Given the description of an element on the screen output the (x, y) to click on. 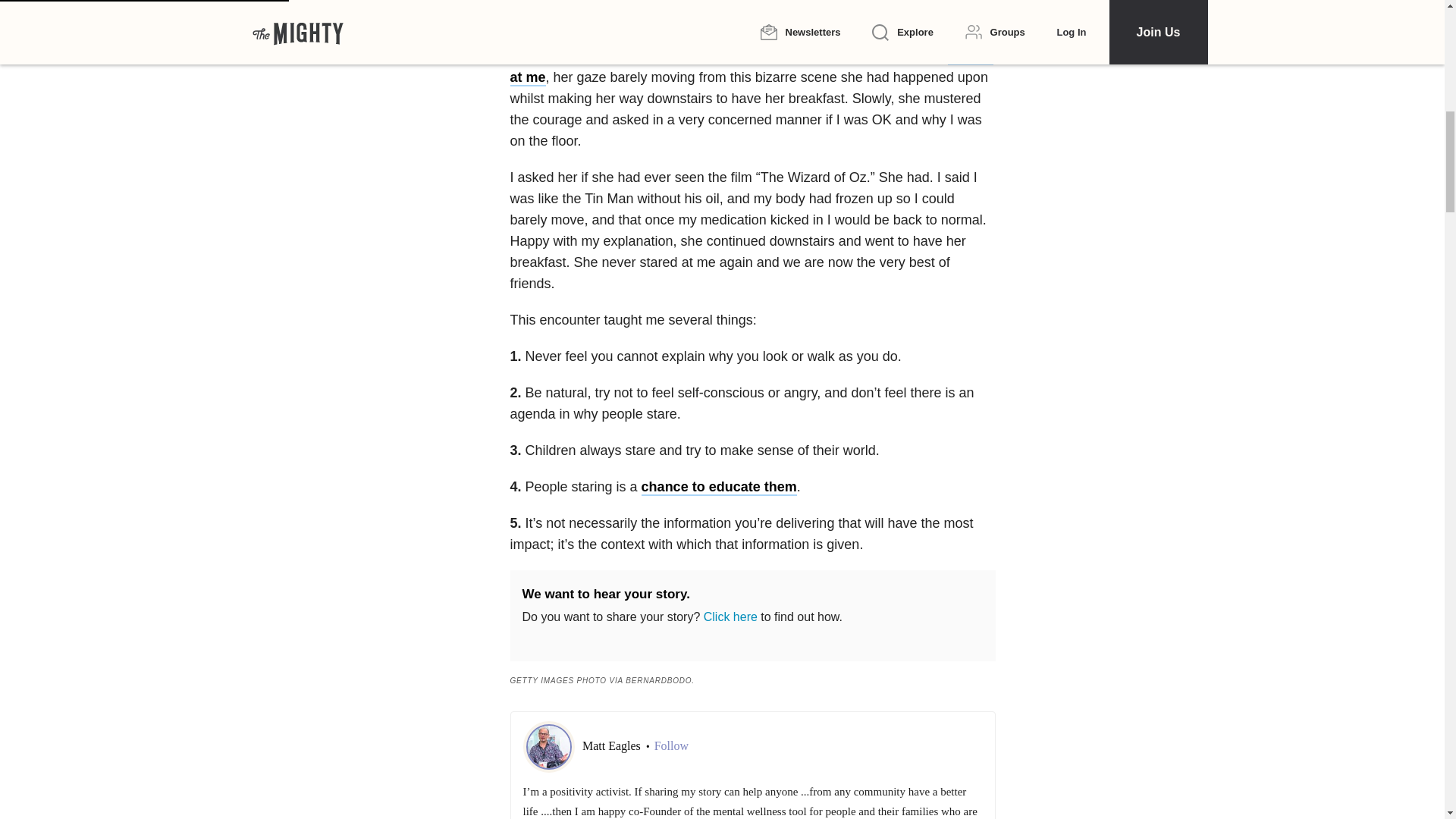
Matt Eagles (612, 745)
chance to educate them (719, 487)
Click here (730, 616)
Follow (670, 745)
staring at me (750, 67)
